Given the description of an element on the screen output the (x, y) to click on. 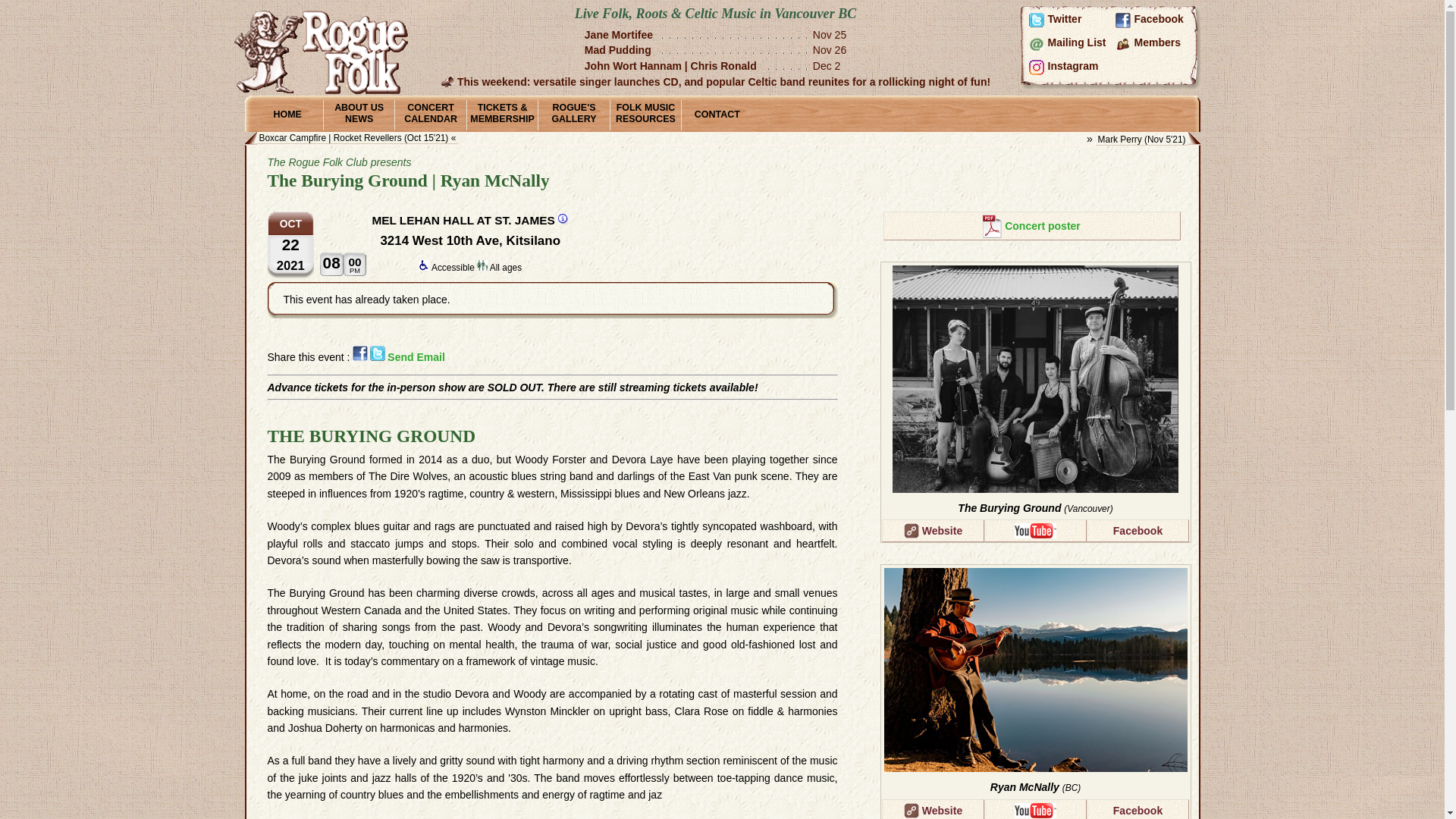
Twitter Element type: text (1070, 19)
Facebook Element type: text (1156, 19)
Members Element type: text (1156, 43)
Jane Mortifee Element type: text (621, 34)
Mailing List Element type: text (1070, 43)
TICKETS & MEMBERSHIP Element type: text (501, 115)
CONCERT CALENDAR Element type: text (429, 115)
FOLK MUSIC RESOURCES Element type: text (644, 115)
Dec 2 Element type: text (826, 65)
Mad Pudding Element type: text (620, 49)
Facebook Element type: text (1137, 530)
Website Element type: text (932, 530)
Concert poster Element type: text (1030, 225)
Send Email Element type: text (415, 357)
ROGUE'S GALLERY Element type: text (572, 115)
John Wort Hannam | Chris Ronald Element type: text (673, 65)
Nov 26 Element type: text (829, 49)
HOME Element type: text (286, 115)
Nov 25 Element type: text (829, 34)
Mel Lehan Hall at St. James info & map Element type: hover (563, 218)
Instagram Element type: text (1070, 66)
Mark Perry (Nov 5'21) Element type: text (1141, 139)
ABOUT US NEWS Element type: text (358, 115)
CONTACT Element type: text (716, 115)
